Given the description of an element on the screen output the (x, y) to click on. 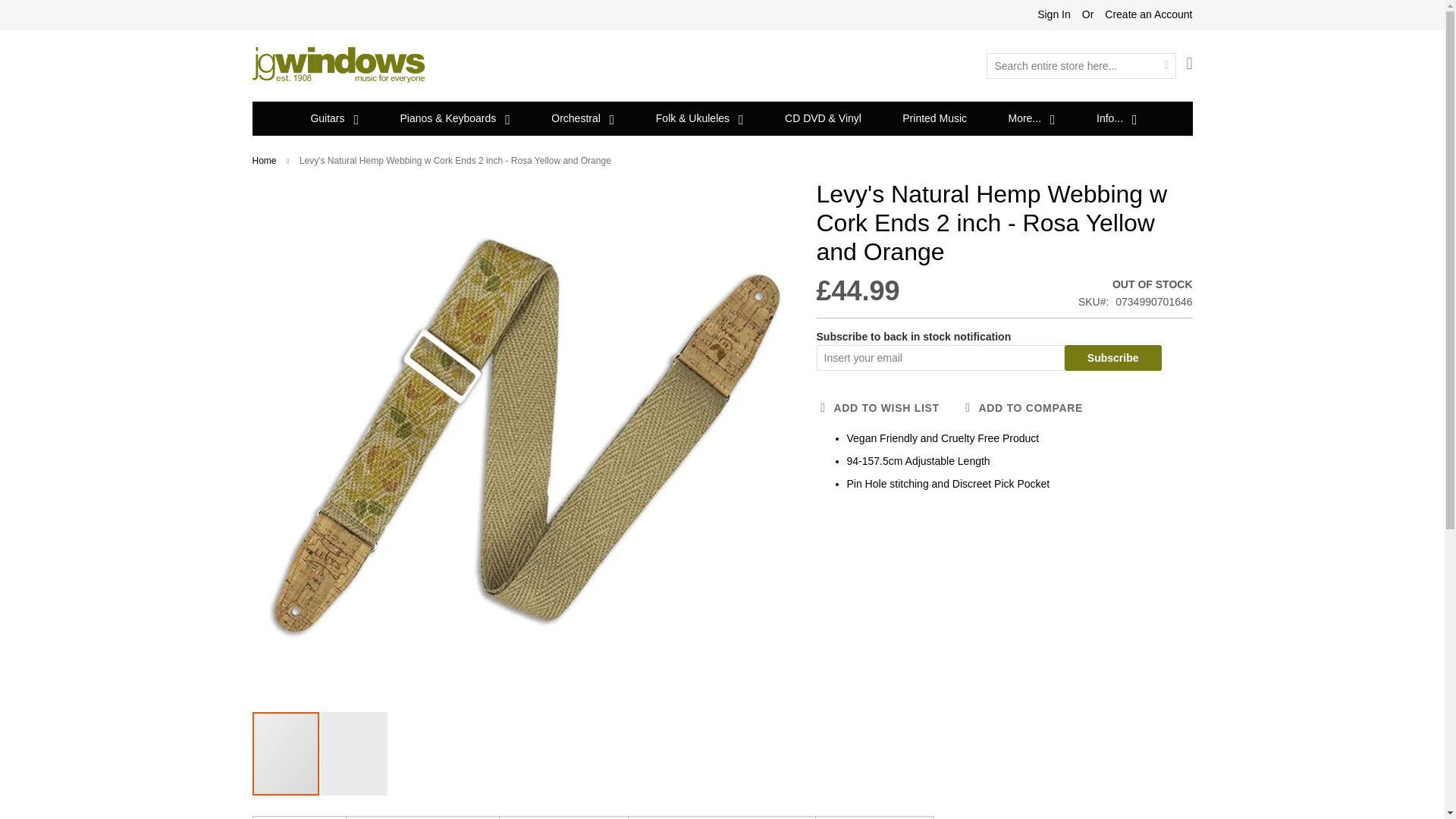
Orchestral (581, 118)
Sign In (1053, 14)
J.G. Windows (338, 64)
Create an Account (1148, 14)
Guitars (332, 118)
Availability (1135, 284)
Go to Home Page (263, 160)
